Given the description of an element on the screen output the (x, y) to click on. 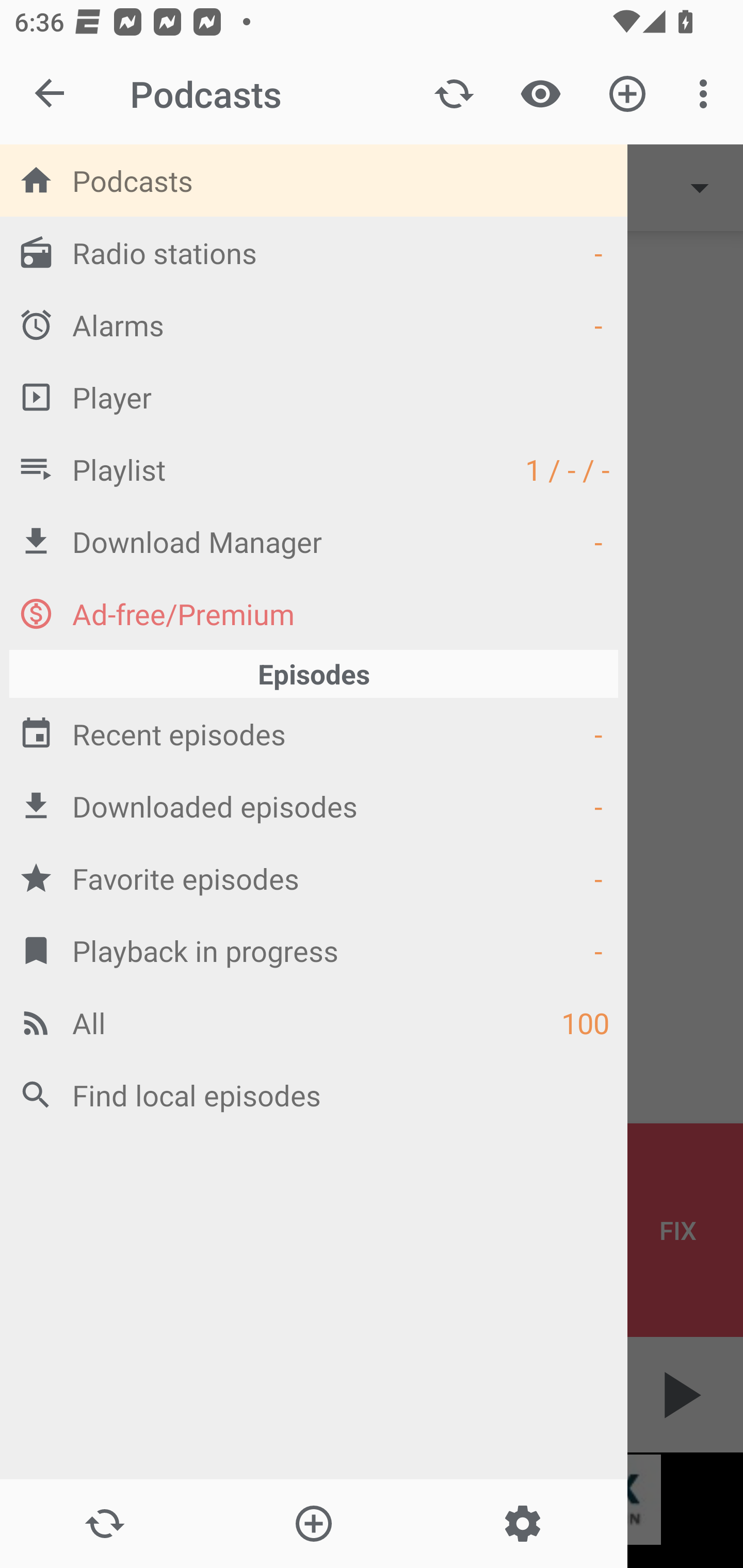
Close navigation sidebar (50, 93)
Update (453, 93)
Show / Hide played content (540, 93)
Add new Podcast (626, 93)
More options (706, 93)
Podcasts (313, 180)
Radio stations  -  (313, 252)
Alarms  -  (313, 324)
Player (313, 396)
Playlist 1 / - / - (313, 468)
Download Manager  -  (313, 540)
Ad-free/Premium (313, 613)
Recent episodes  -  (313, 733)
Downloaded episodes  -  (313, 805)
Favorite episodes  -  (313, 878)
Playback in progress  -  (313, 950)
All 100 (313, 1022)
Find local episodes (313, 1094)
Update (104, 1523)
Add new Podcast (312, 1523)
Settings (522, 1523)
